Given the description of an element on the screen output the (x, y) to click on. 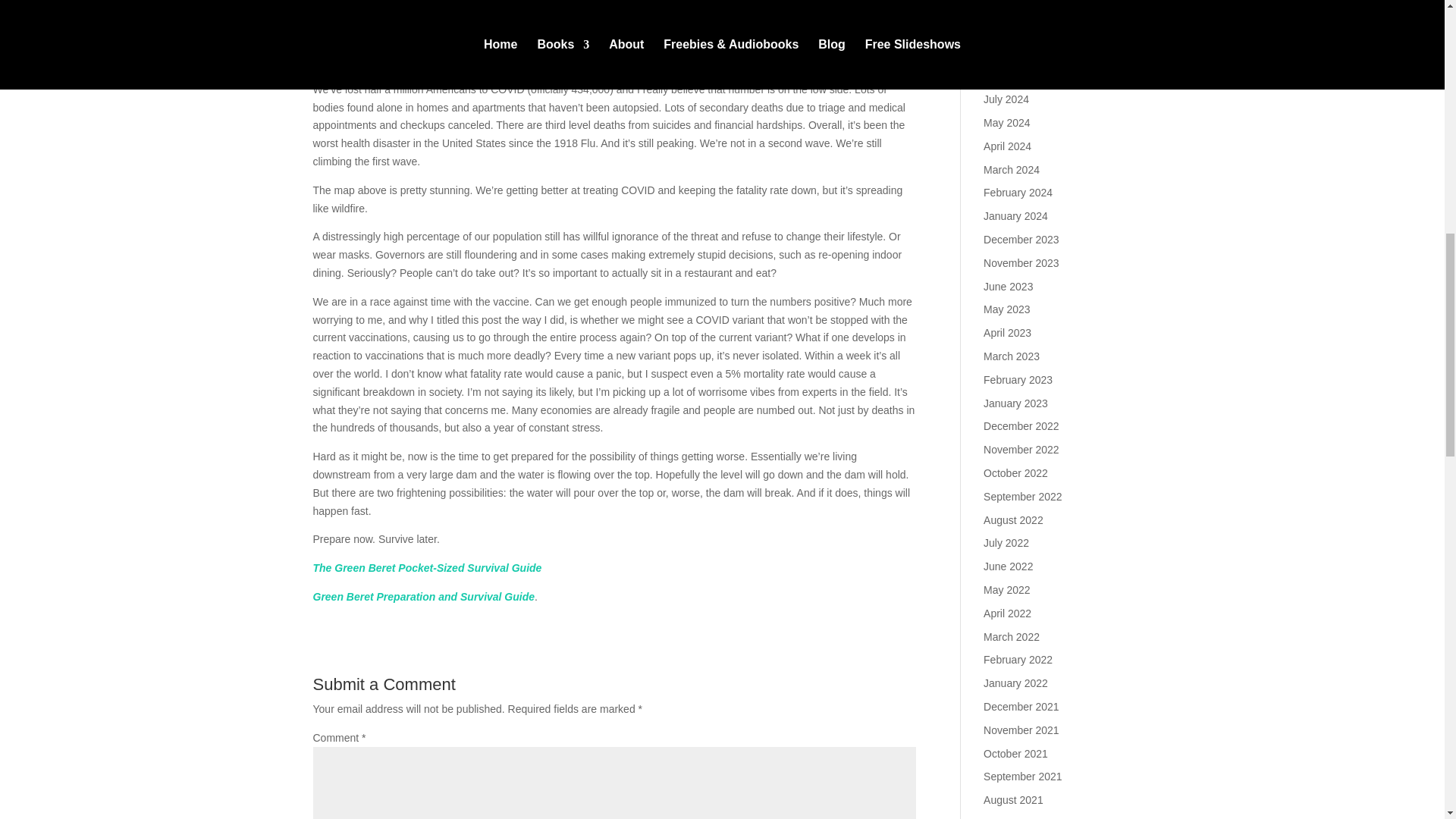
February 2024 (1018, 192)
Green Beret Preparation and Survival Guide (423, 596)
April 2024 (1007, 146)
November 2023 (1021, 263)
March 2024 (1011, 169)
December 2023 (1021, 239)
July 2024 (1006, 99)
The Green Beret Pocket-Sized Survival Guide (427, 567)
January 2024 (1016, 215)
May 2024 (1006, 122)
